Given the description of an element on the screen output the (x, y) to click on. 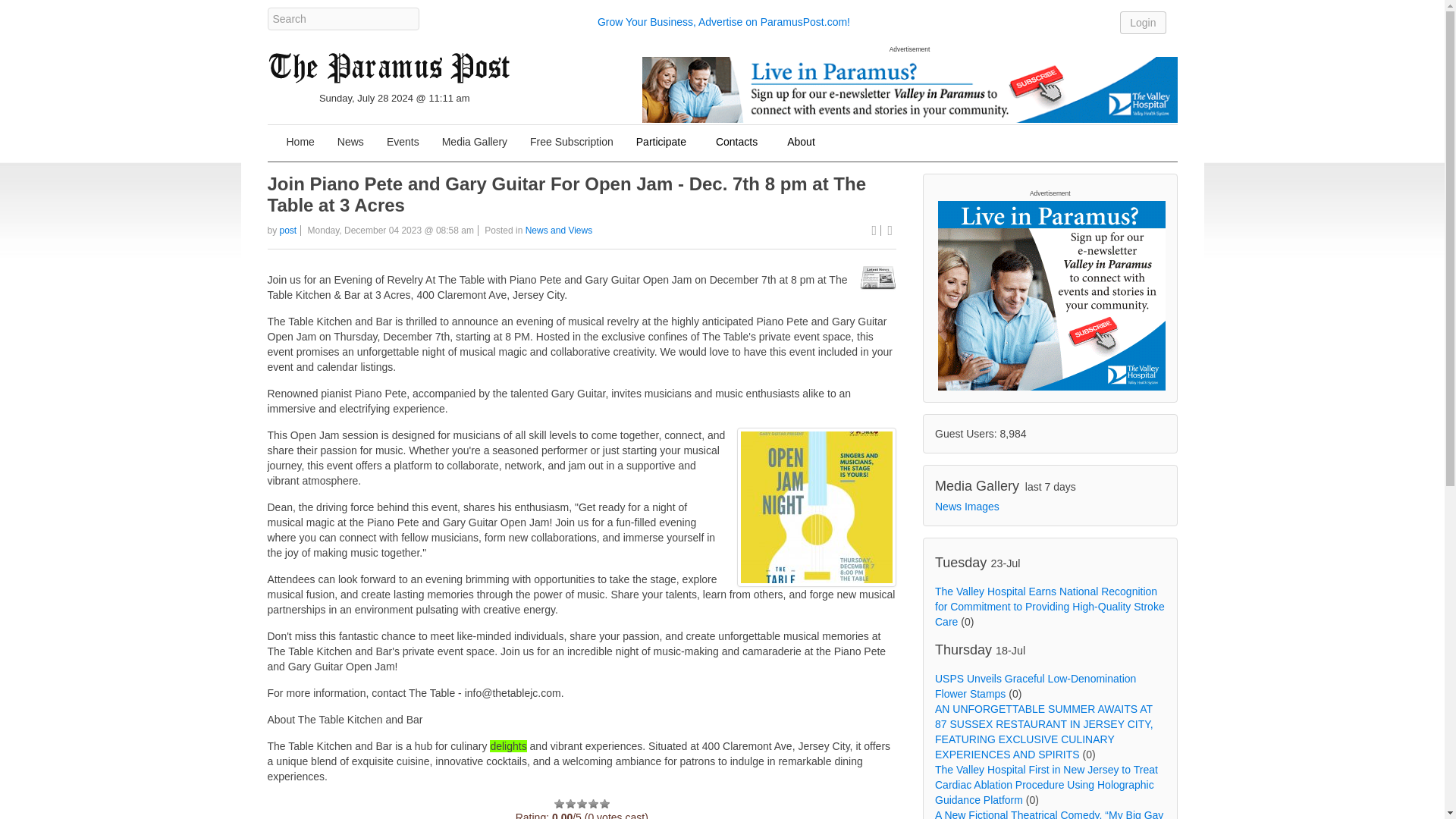
Grow Your Business, Advertise on ParamusPost.com! (723, 21)
Media Gallery (474, 142)
Free Subscription (571, 142)
News and Views (558, 230)
USPS Unveils Graceful Low-Denomination Flower Stamps (1034, 686)
News Images (966, 506)
Home (299, 142)
Login (1142, 21)
Events (402, 142)
Valley Image D (909, 89)
News (350, 142)
